Given the description of an element on the screen output the (x, y) to click on. 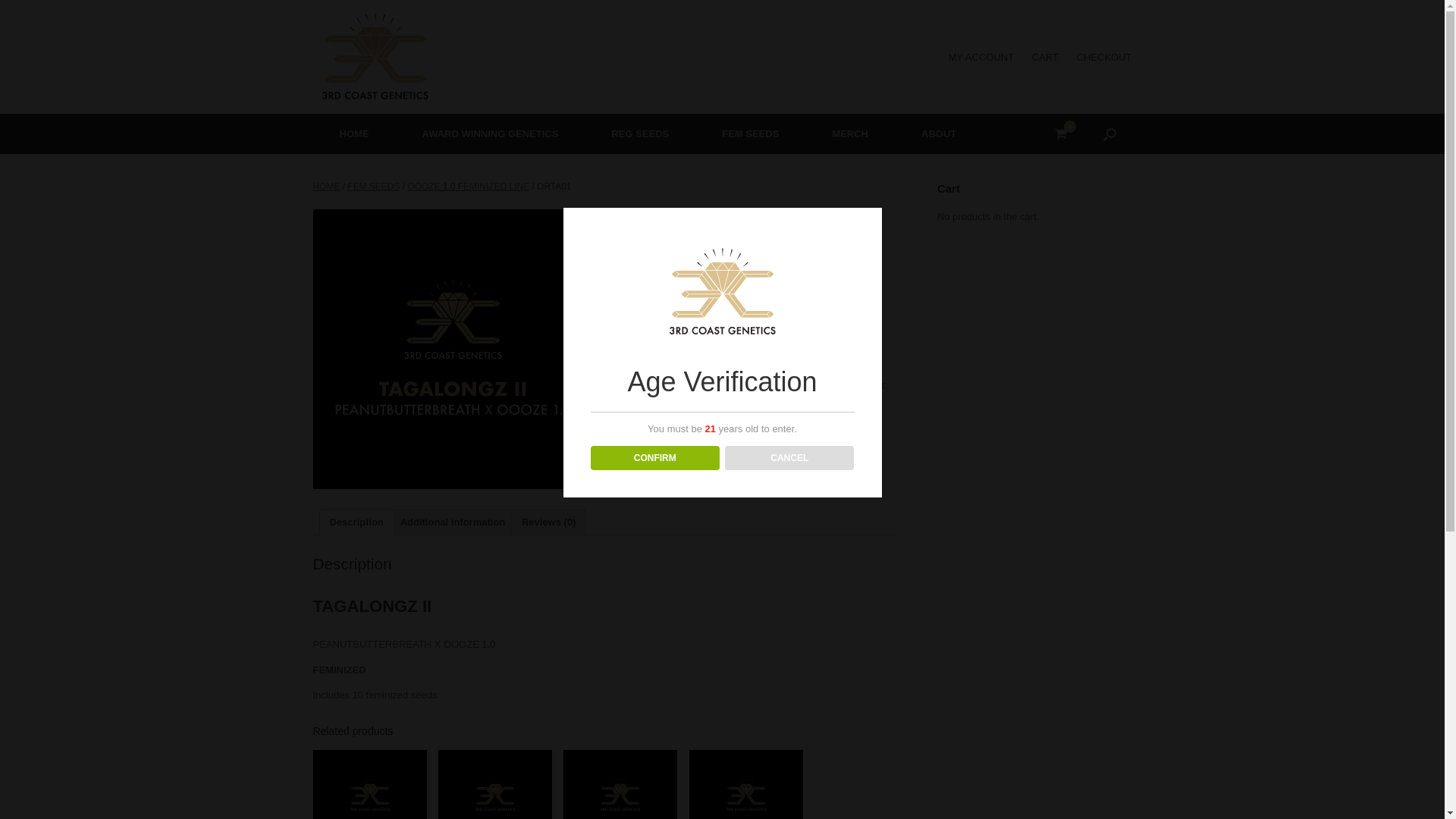
HOME Element type: text (325, 186)
AWARD WINNING GENETICS Element type: text (490, 133)
CART Element type: text (1045, 56)
REG SEEDS Element type: text (639, 133)
3rd Coast Genetics Element type: hover (374, 56)
MERCH Element type: text (849, 133)
Add to cart Element type: text (710, 342)
MY ACCOUNT Element type: text (980, 56)
CANCEL Element type: text (789, 457)
FEM SEEDS Element type: text (373, 186)
HOME Element type: text (353, 133)
OOOZE 1.0 FEMINIZED LINE Element type: text (797, 384)
TAGALONGZ II Element type: text (650, 399)
Description Element type: text (356, 521)
CHECKOUT Element type: text (1104, 56)
TAGALONGZ-II Element type: hover (452, 349)
OOOZE 1.0 FEMINIZED LINE Element type: text (468, 186)
View shopping cart
0 Element type: text (1060, 133)
Additional information Element type: text (452, 521)
Reviews (0) Element type: text (548, 521)
CONFIRM Element type: text (655, 457)
ABOUT Element type: text (938, 133)
FEM SEEDS Element type: text (750, 133)
FEM SEEDS Element type: text (697, 384)
